Given the description of an element on the screen output the (x, y) to click on. 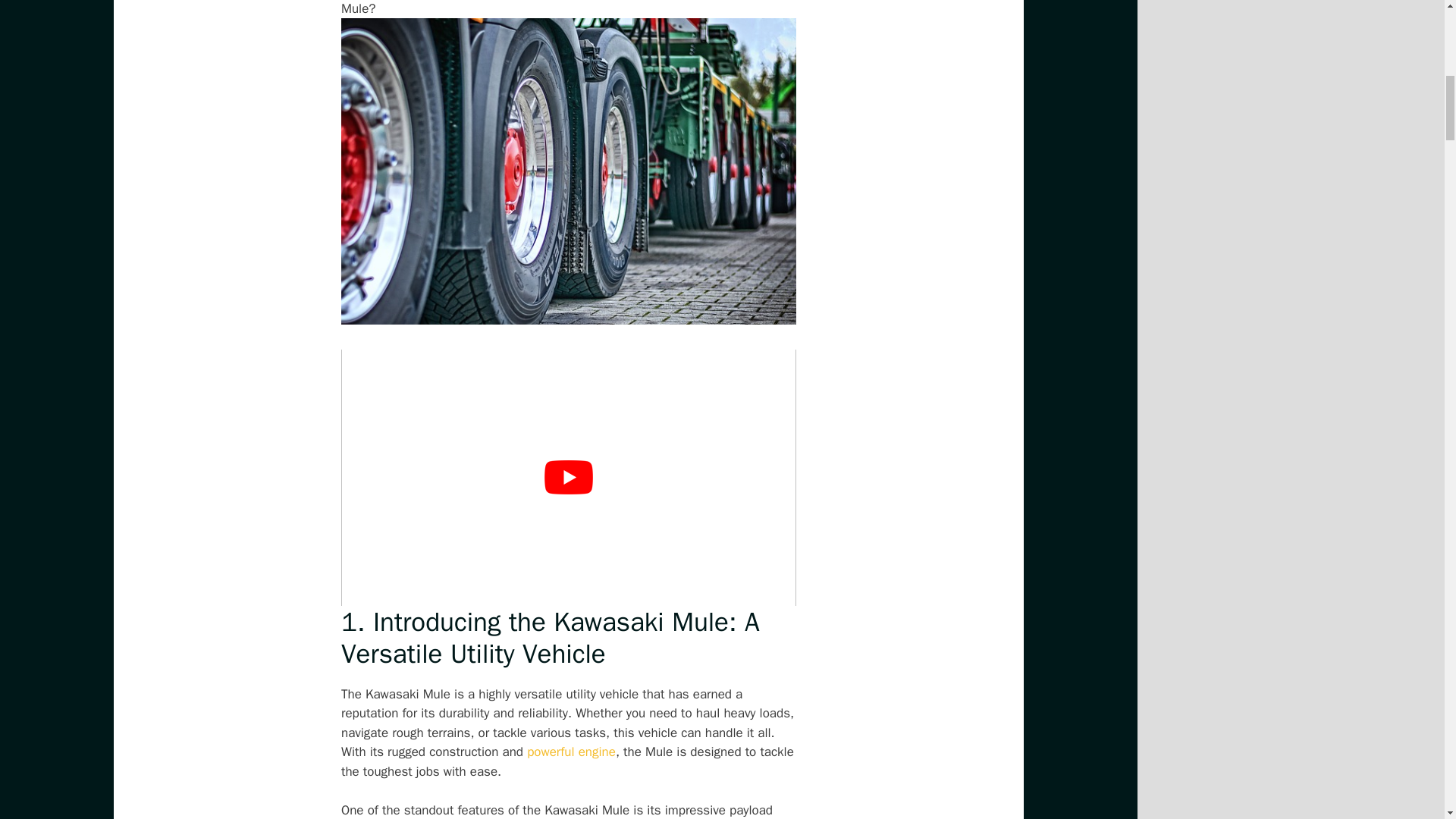
Fuel Injection's History: When Kawasaki Started (571, 751)
powerful engine (571, 751)
